Given the description of an element on the screen output the (x, y) to click on. 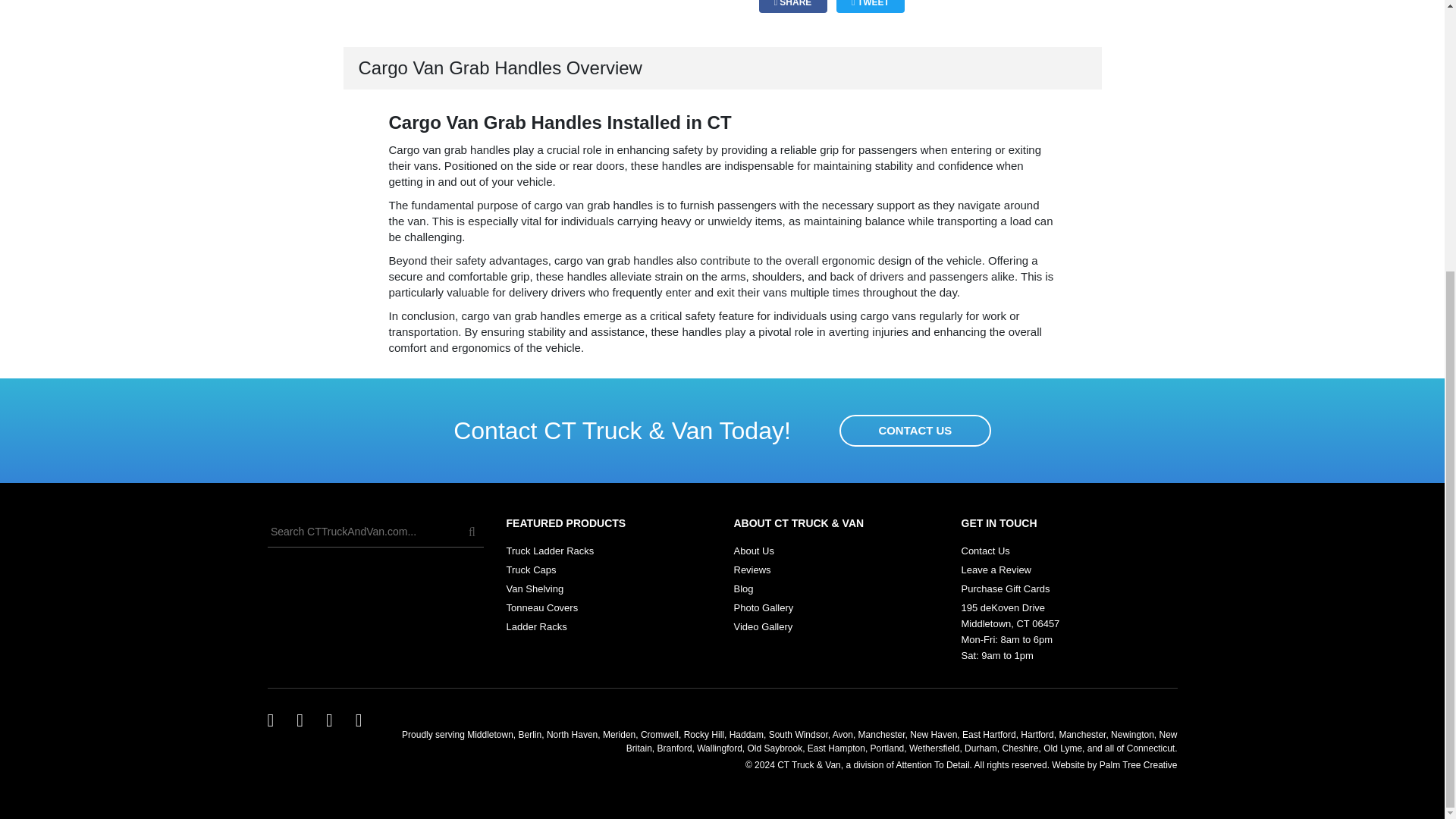
Share on Twitter (869, 6)
Avon in CT (842, 734)
South Windsor in CT (798, 734)
Share on Facebook (792, 6)
Cromwell in CT (659, 734)
Meriden in CT (618, 734)
Middletown in CT (490, 734)
North Haven in CT (571, 734)
Haddam in CT (745, 734)
Rocky Hill in CT (703, 734)
